Given the description of an element on the screen output the (x, y) to click on. 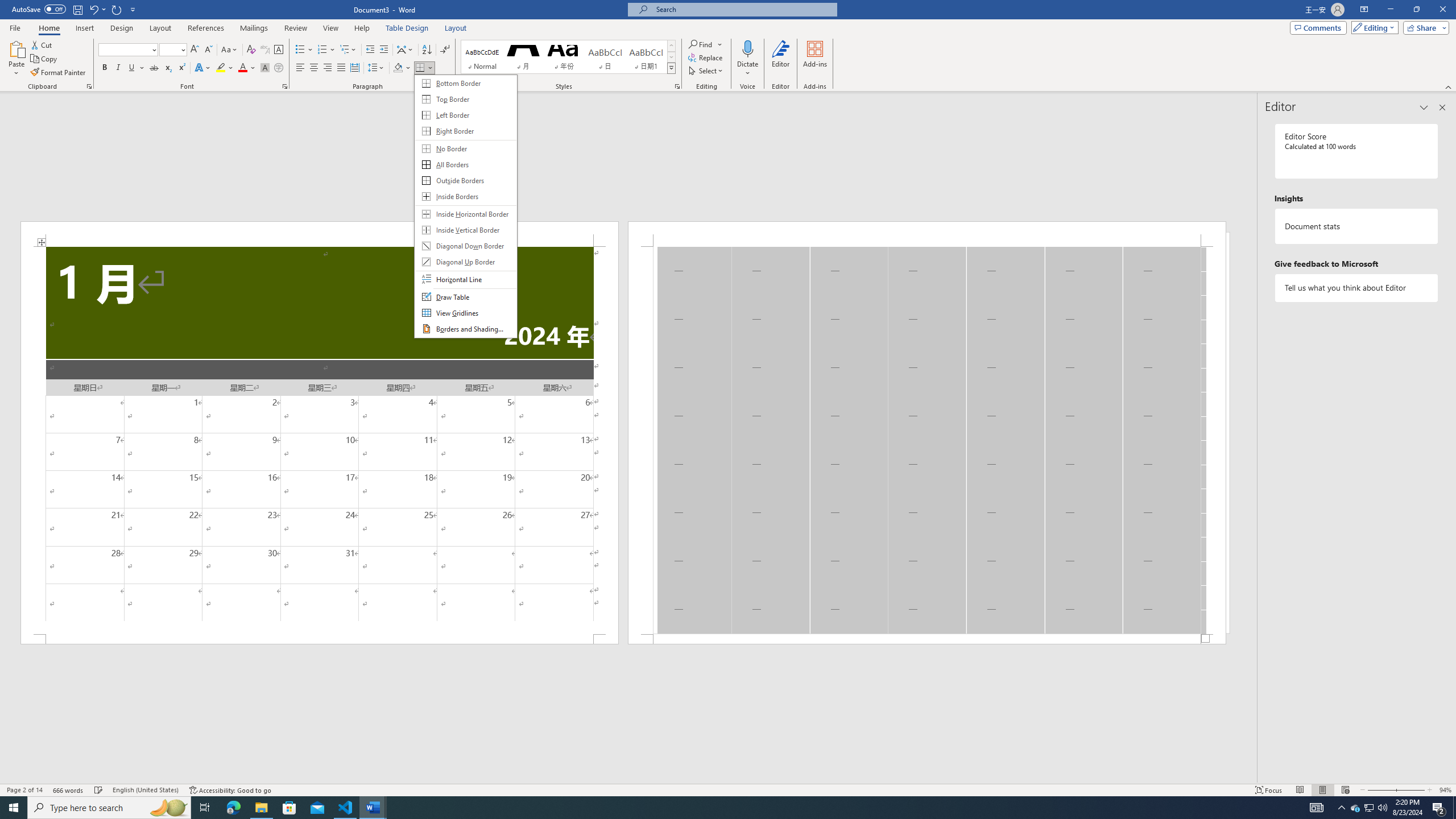
&Borders (464, 206)
